Given the description of an element on the screen output the (x, y) to click on. 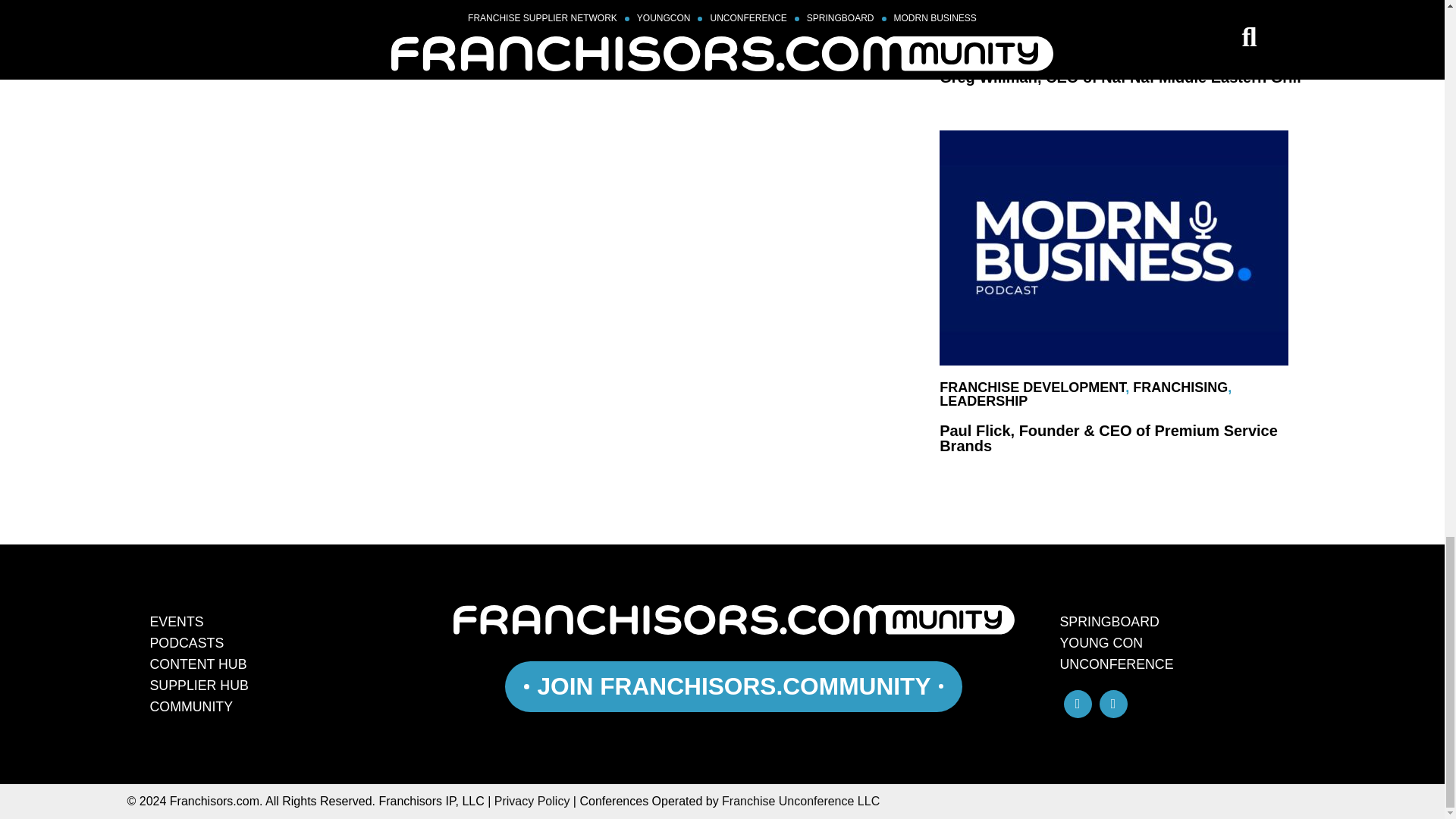
View all posts in Franchise development (1114, 33)
View all posts in Growth (970, 47)
View all posts in Franchise development (1032, 387)
View all posts in Franchising (1179, 387)
View all posts in Leadership (983, 400)
View all posts in Franchising (1261, 33)
View all posts in Emerging (976, 33)
